Given the description of an element on the screen output the (x, y) to click on. 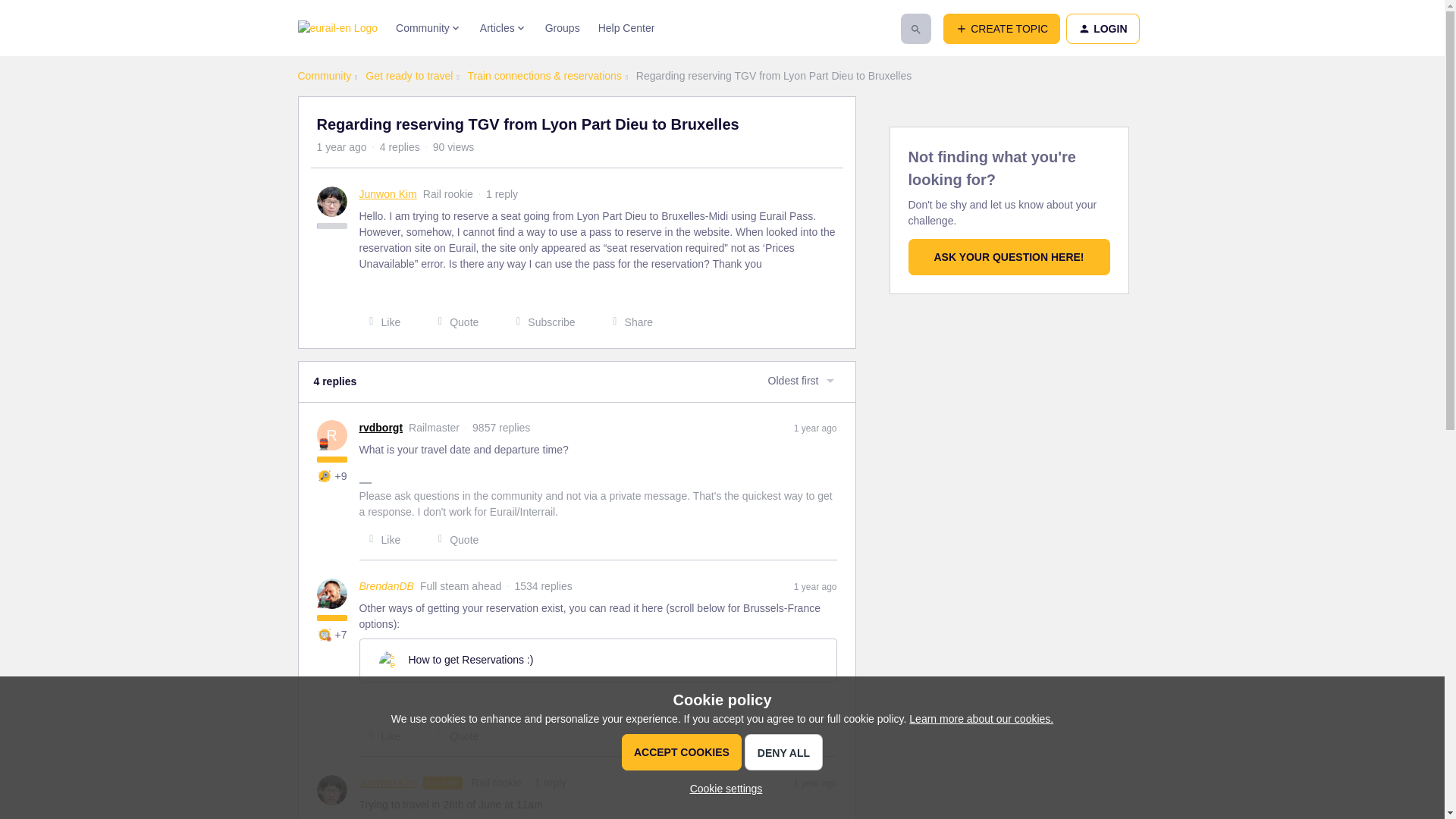
Get ready to travel (408, 75)
Like (380, 322)
Groups (561, 28)
Junwon Kim (387, 194)
CREATE TOPIC (1001, 28)
Rail rookie (448, 193)
4 replies (400, 146)
Subscribe (539, 322)
Create topic (1001, 28)
Quote (453, 322)
